Given the description of an element on the screen output the (x, y) to click on. 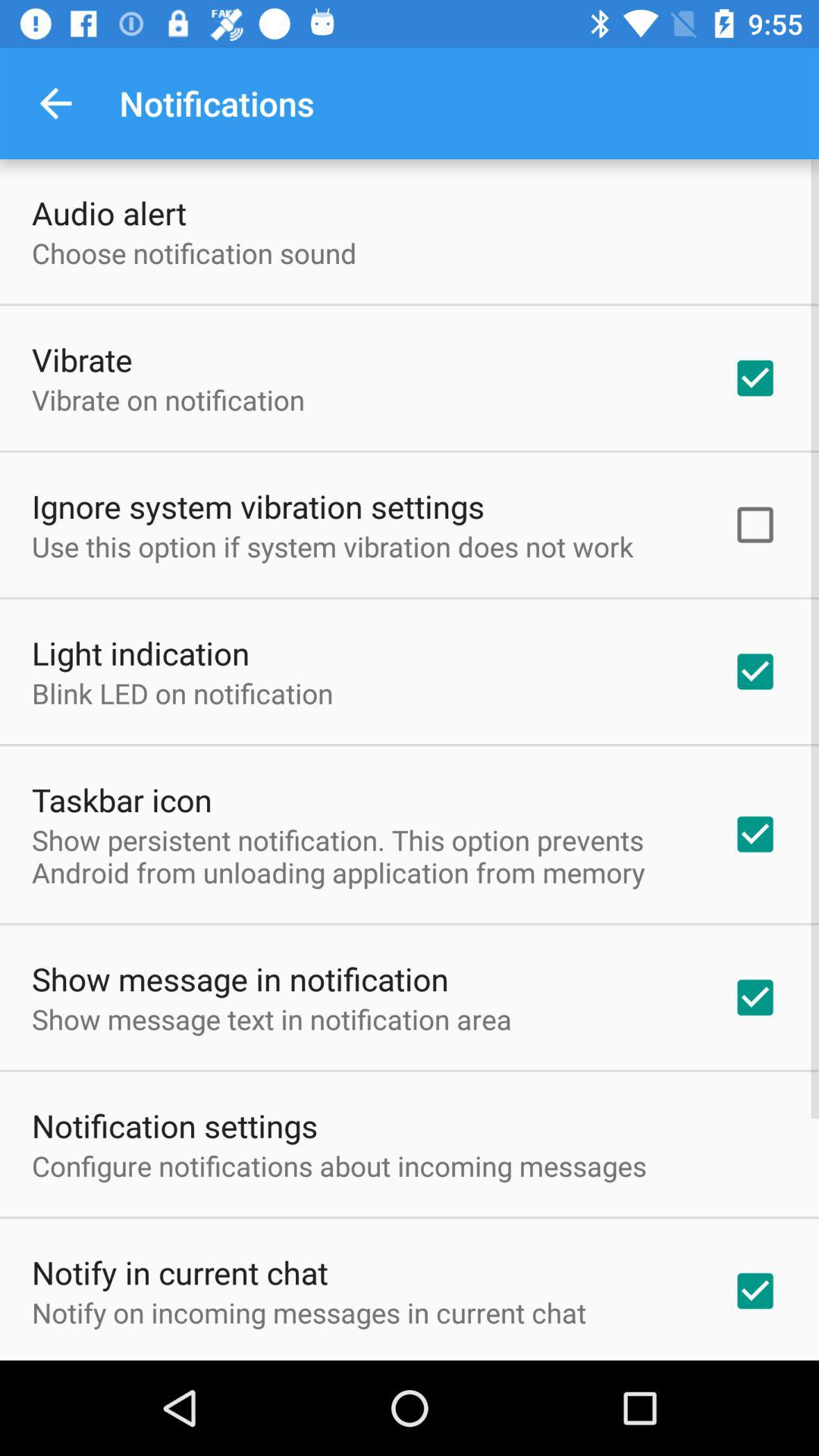
choose the icon above blink led on icon (140, 652)
